Given the description of an element on the screen output the (x, y) to click on. 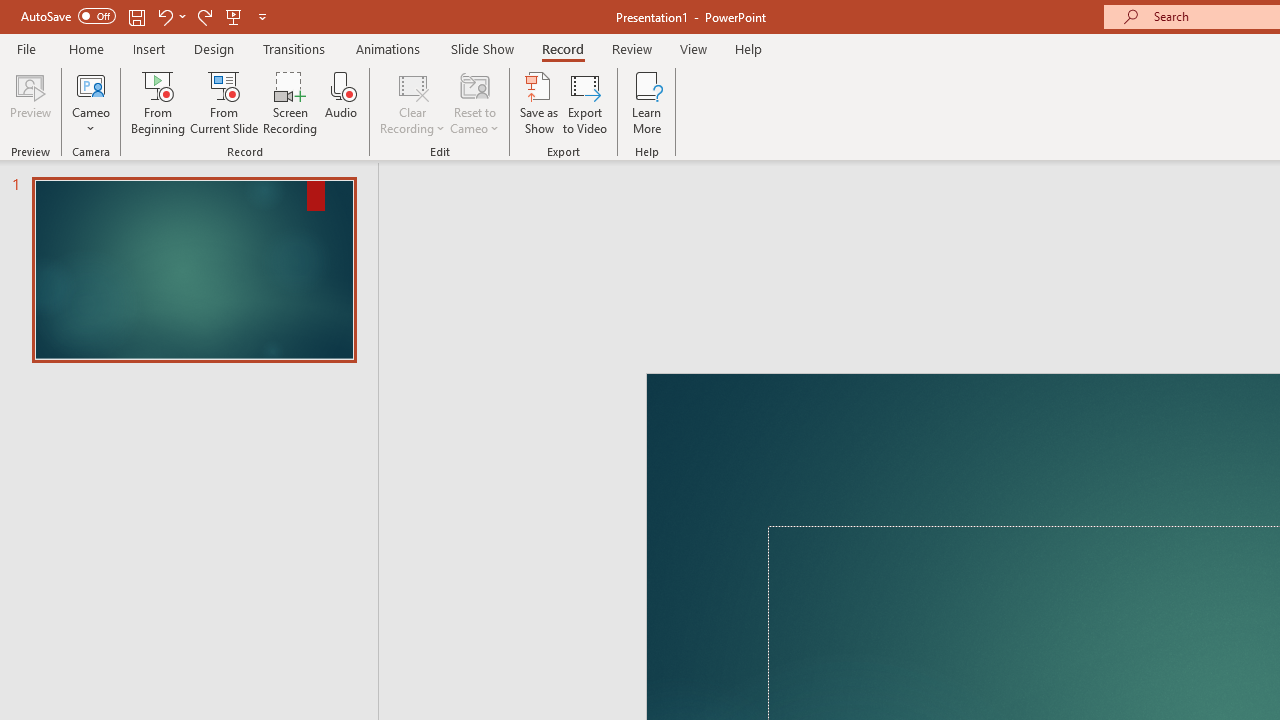
Screen Recording (290, 102)
From Current Slide... (224, 102)
Audio (341, 102)
